Given the description of an element on the screen output the (x, y) to click on. 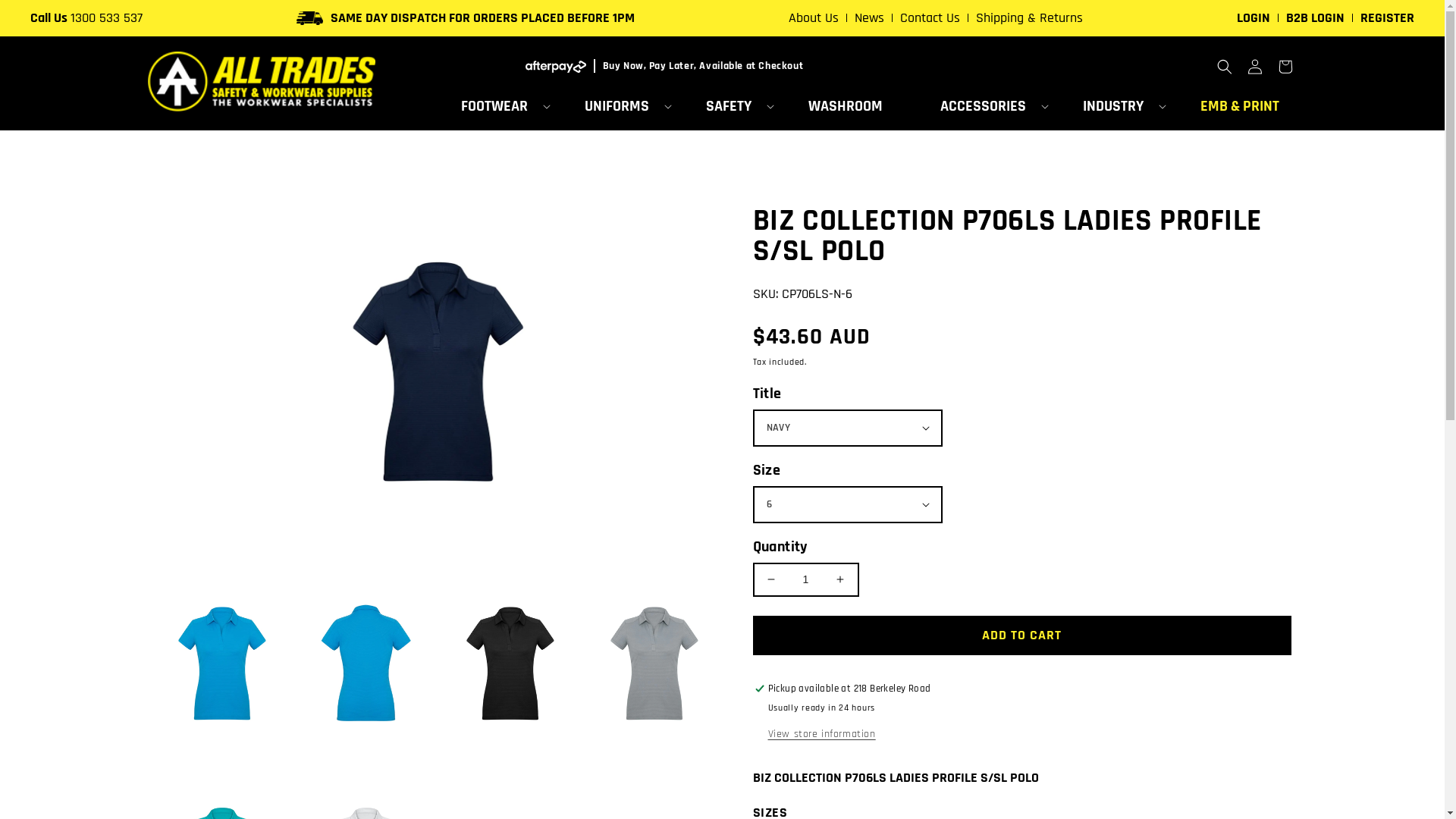
Open media 3 in gallery view Element type: text (509, 662)
Open media 1 in gallery view Element type: text (221, 662)
Open featured media in gallery view Element type: text (437, 370)
B2B LOGIN Element type: text (1315, 17)
REGISTER Element type: text (1387, 17)
About Us Element type: text (813, 17)
View store information Element type: text (821, 734)
Cart Element type: text (1284, 66)
WASHROOM Element type: text (845, 105)
1300 533 537 Element type: text (106, 17)
Open media 2 in gallery view Element type: text (365, 662)
LOGIN Element type: text (1253, 17)
Contact Us Element type: text (930, 17)
Open media 5 in gallery view Element type: text (653, 662)
EMB & PRINT Element type: text (1239, 105)
Skip to product information Element type: text (198, 199)
Shipping & Returns Element type: text (1028, 17)
Log in Element type: text (1254, 66)
ADD TO CART Element type: text (1021, 635)
News Element type: text (869, 17)
